Given the description of an element on the screen output the (x, y) to click on. 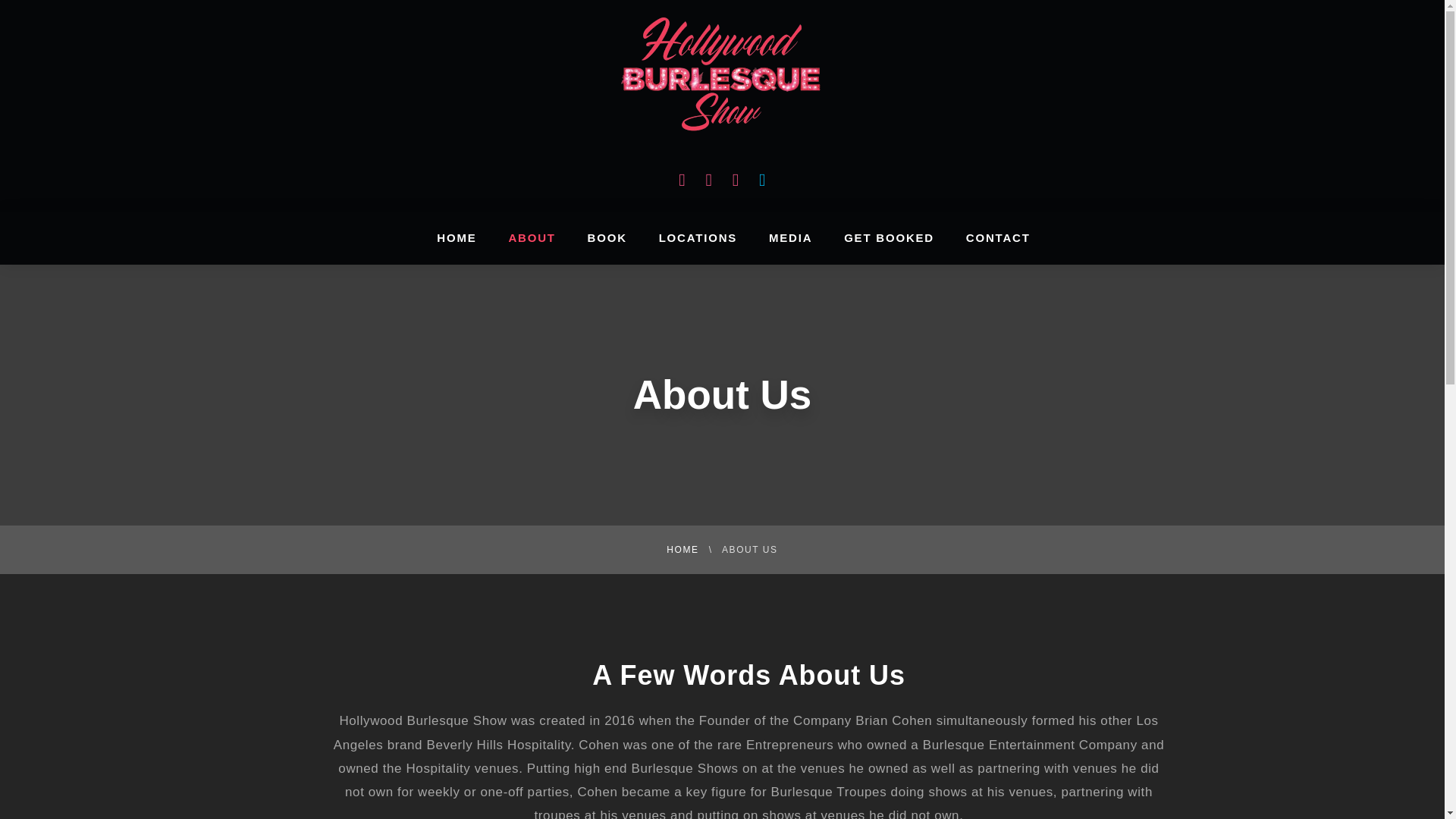
HOME (682, 549)
LOCATIONS (697, 237)
CONTACT (998, 237)
HOME (456, 237)
MEDIA (790, 237)
BOOK (607, 237)
ABOUT (531, 237)
GET BOOKED (889, 237)
About Us (722, 395)
